Given the description of an element on the screen output the (x, y) to click on. 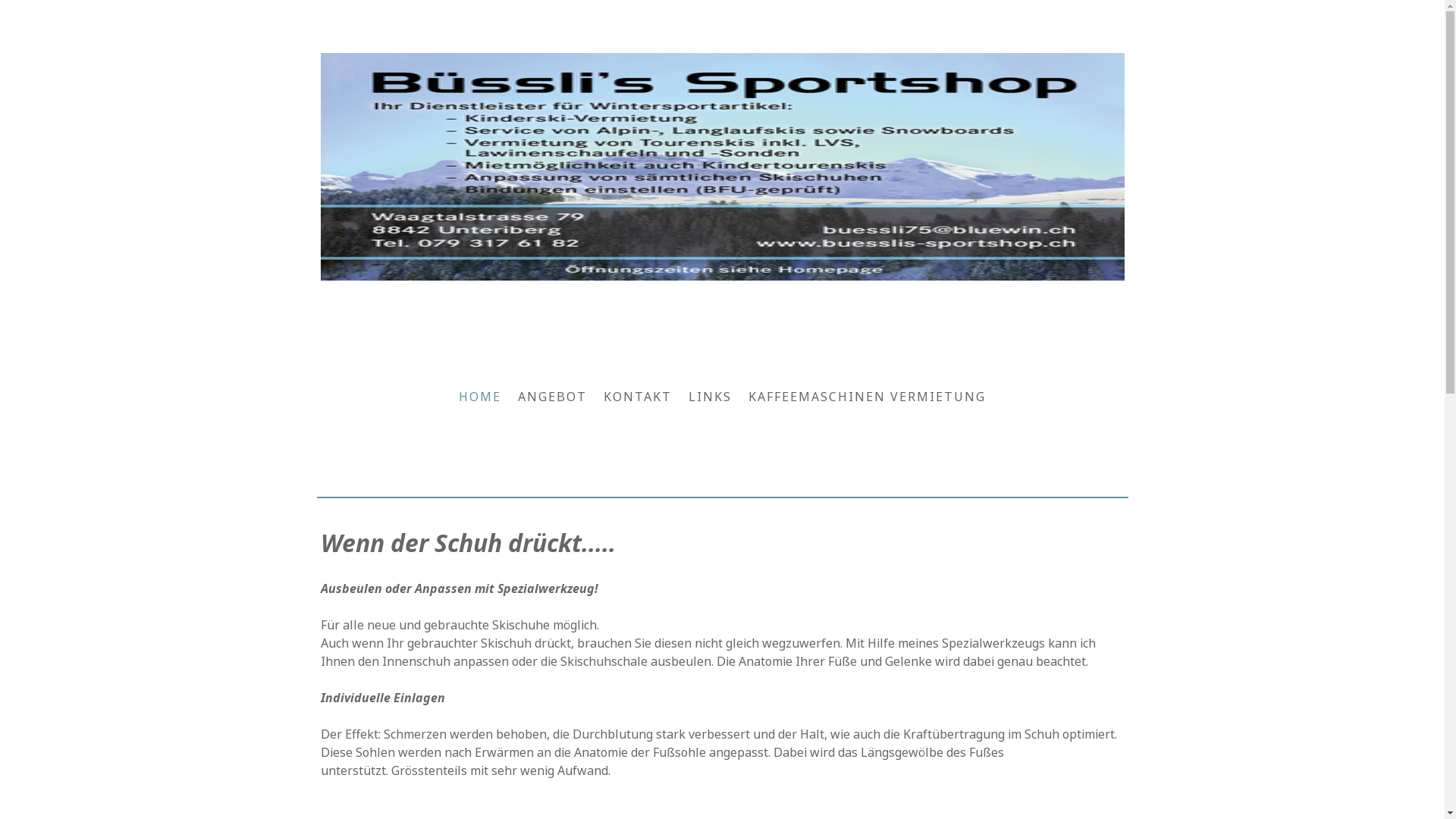
LINKS Element type: text (710, 396)
ANGEBOT Element type: text (552, 396)
KONTAKT Element type: text (637, 396)
KAFFEEMASCHINEN VERMIETUNG Element type: text (867, 396)
HOME Element type: text (479, 396)
